Given the description of an element on the screen output the (x, y) to click on. 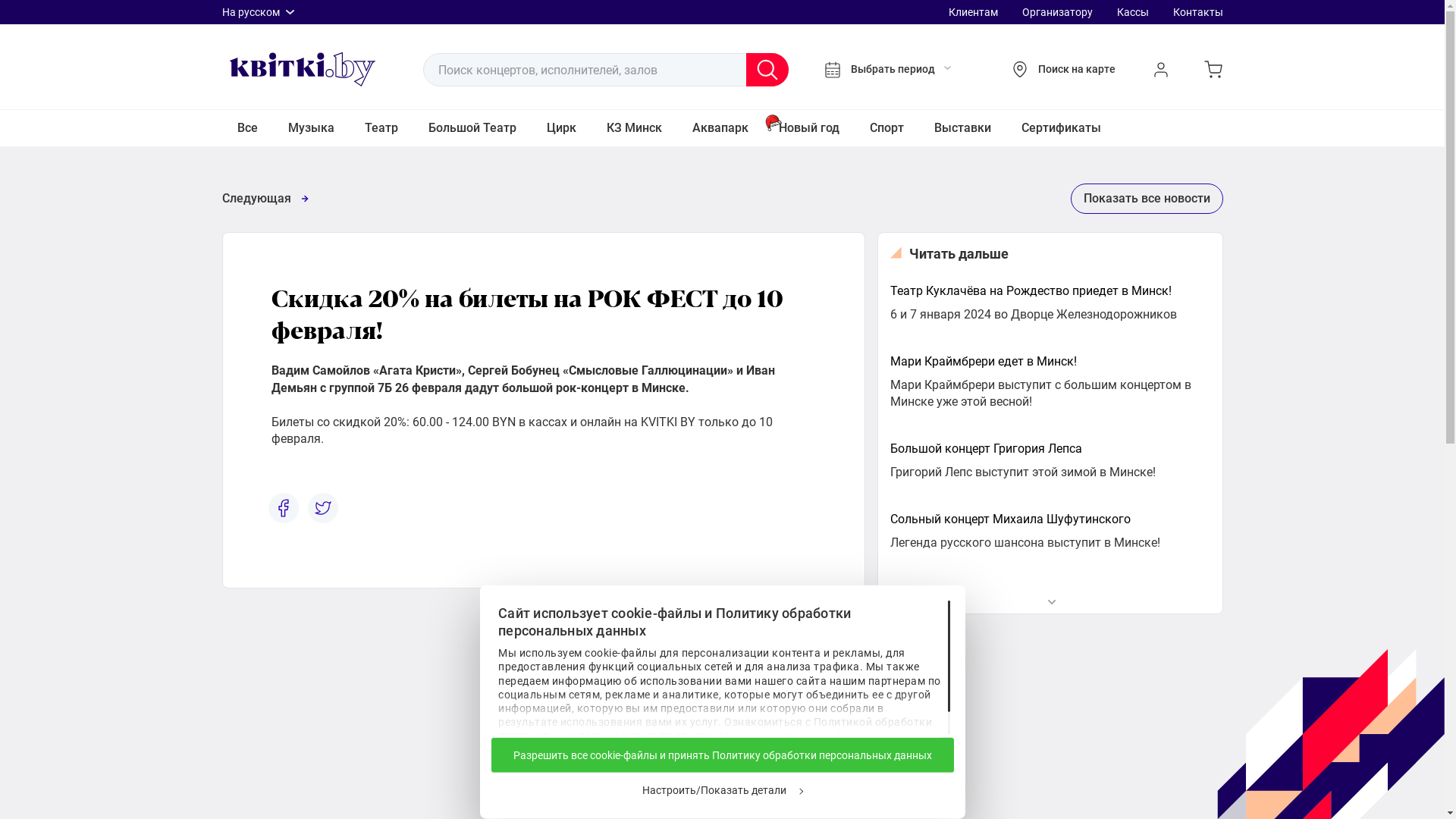
tw Element type: text (322, 507)
fb Element type: text (283, 507)
